Given the description of an element on the screen output the (x, y) to click on. 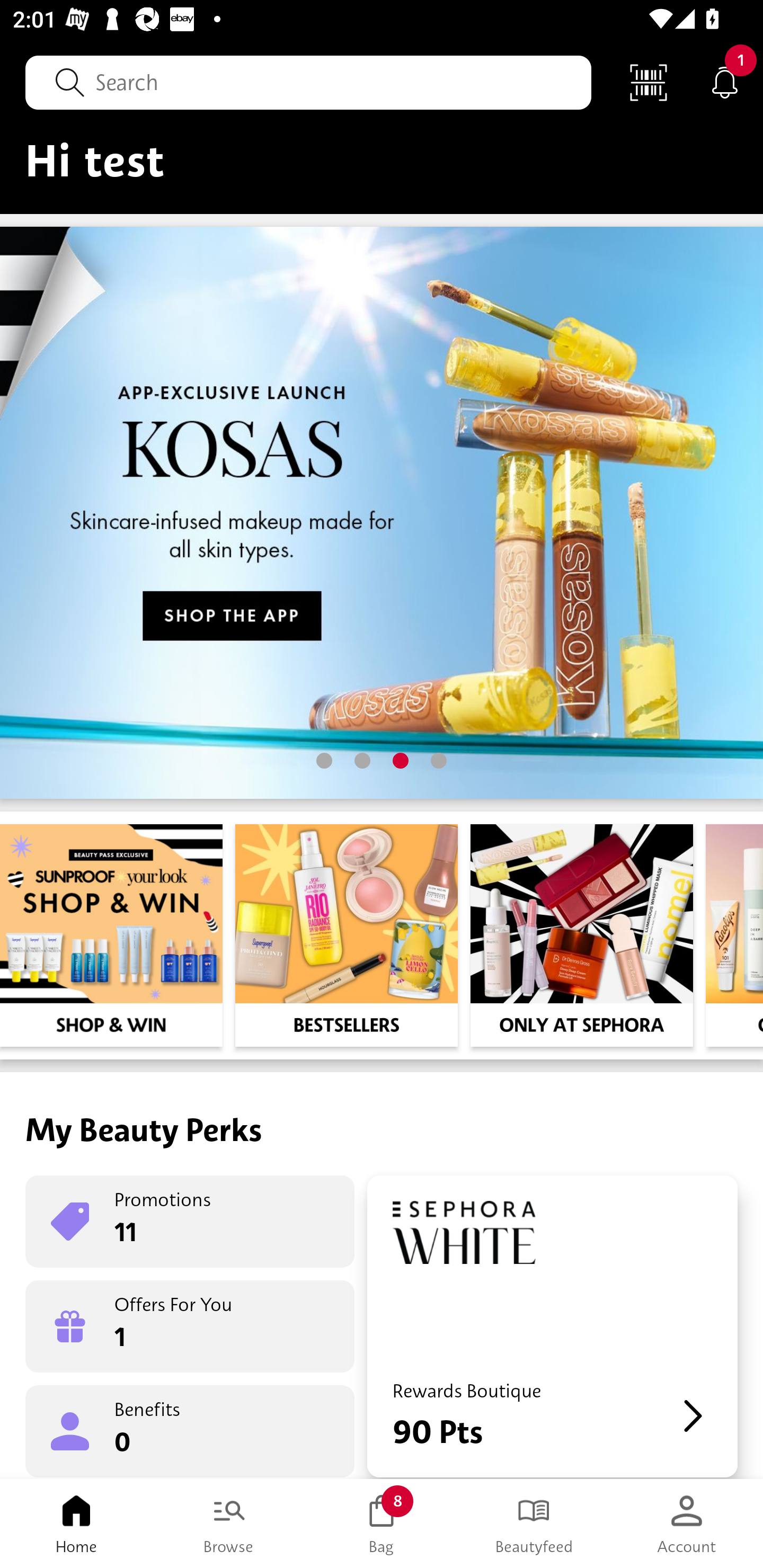
Scan Code (648, 81)
Notifications (724, 81)
Search (308, 81)
Promotions 11 (189, 1221)
Rewards Boutique 90 Pts (552, 1326)
Offers For You 1 (189, 1326)
Benefits 0 (189, 1430)
Browse (228, 1523)
Bag 8 Bag (381, 1523)
Beautyfeed (533, 1523)
Account (686, 1523)
